Given the description of an element on the screen output the (x, y) to click on. 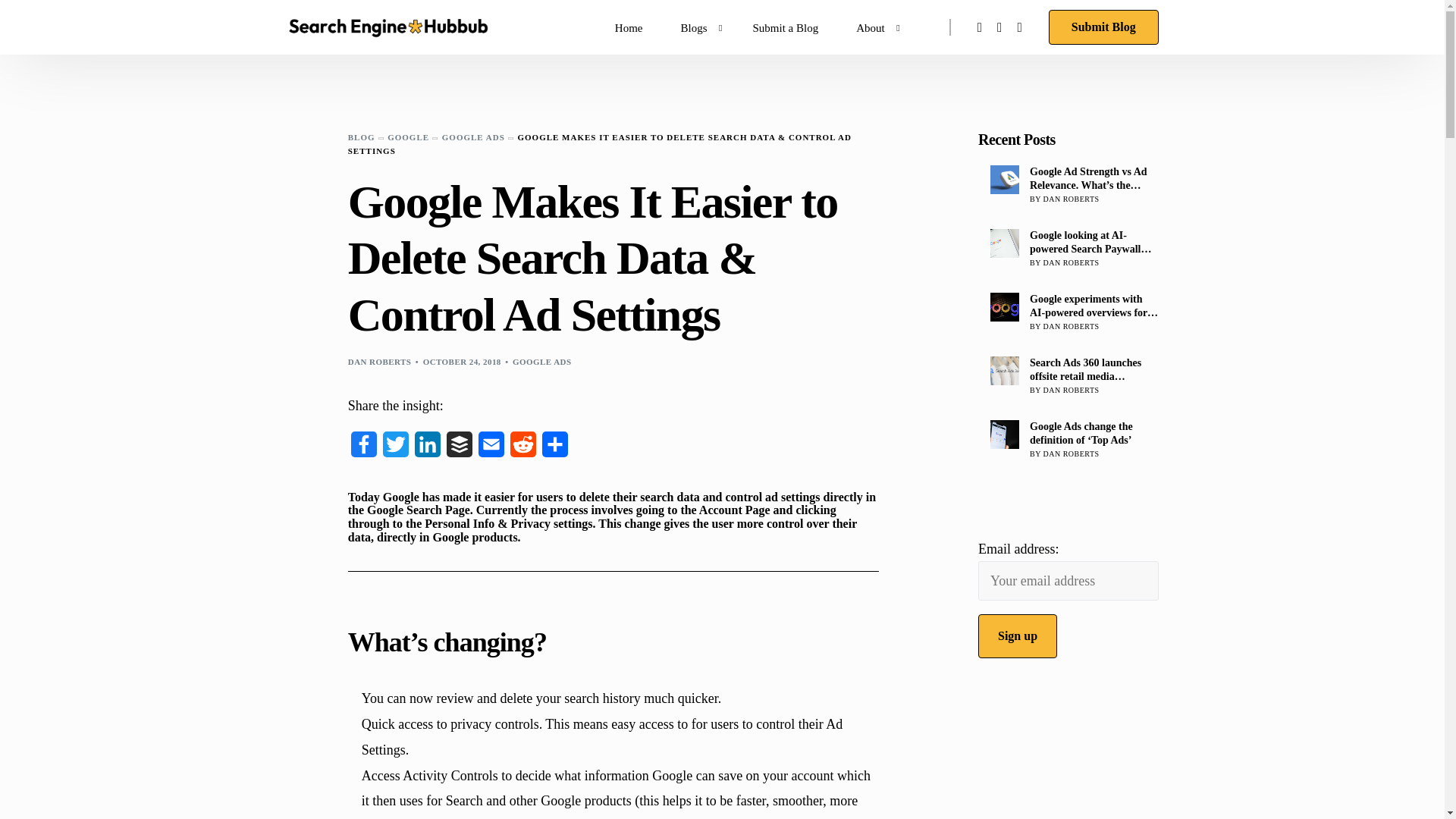
About (874, 27)
Posts by Dan Roberts (379, 361)
LinkedIn (428, 448)
Sign up (1017, 636)
Email (491, 448)
Blogs (697, 27)
Submit a Blog (785, 27)
Facebook (363, 448)
Home (628, 27)
PPC hubbub (628, 27)
